Given the description of an element on the screen output the (x, y) to click on. 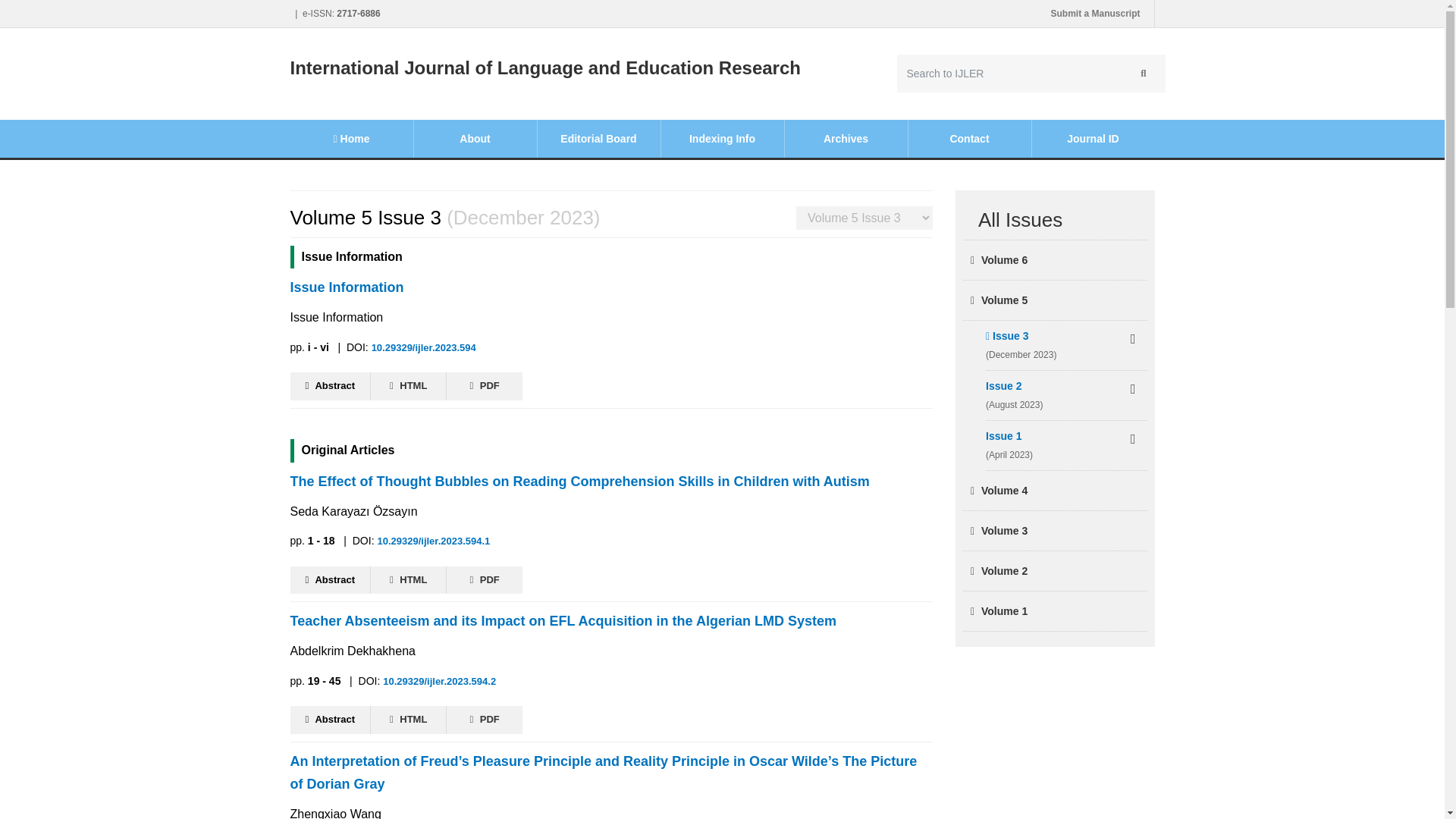
Contact (969, 138)
Issue Information (611, 287)
PDF (484, 580)
Archives (845, 138)
Home (350, 138)
About (475, 138)
HTML (408, 580)
PDF (484, 386)
